Given the description of an element on the screen output the (x, y) to click on. 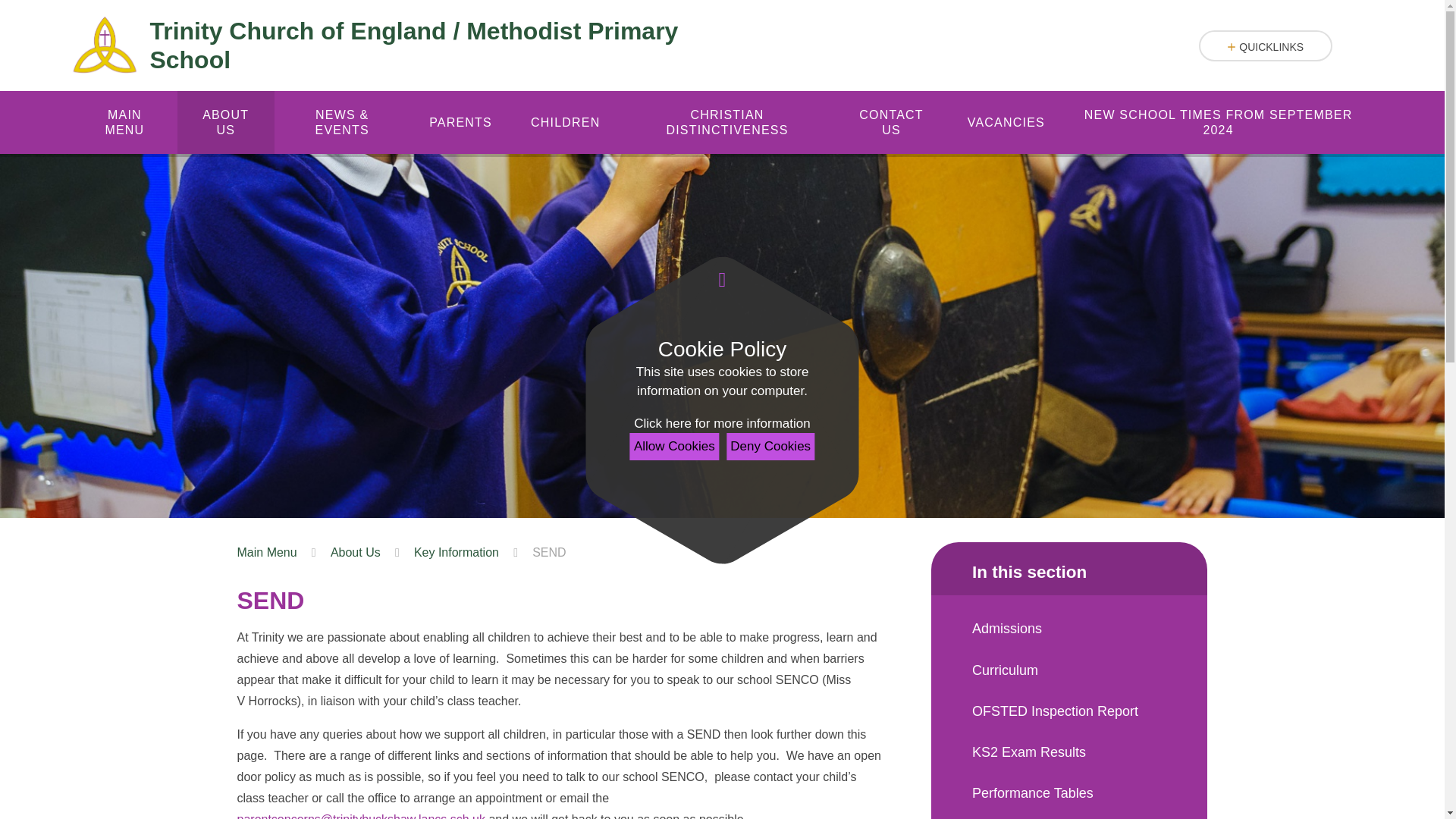
ABOUT US (226, 121)
Allow Cookies (674, 446)
MAIN MENU (123, 121)
PARENTS (461, 121)
See cookie policy (721, 424)
Deny Cookies (769, 446)
